Given the description of an element on the screen output the (x, y) to click on. 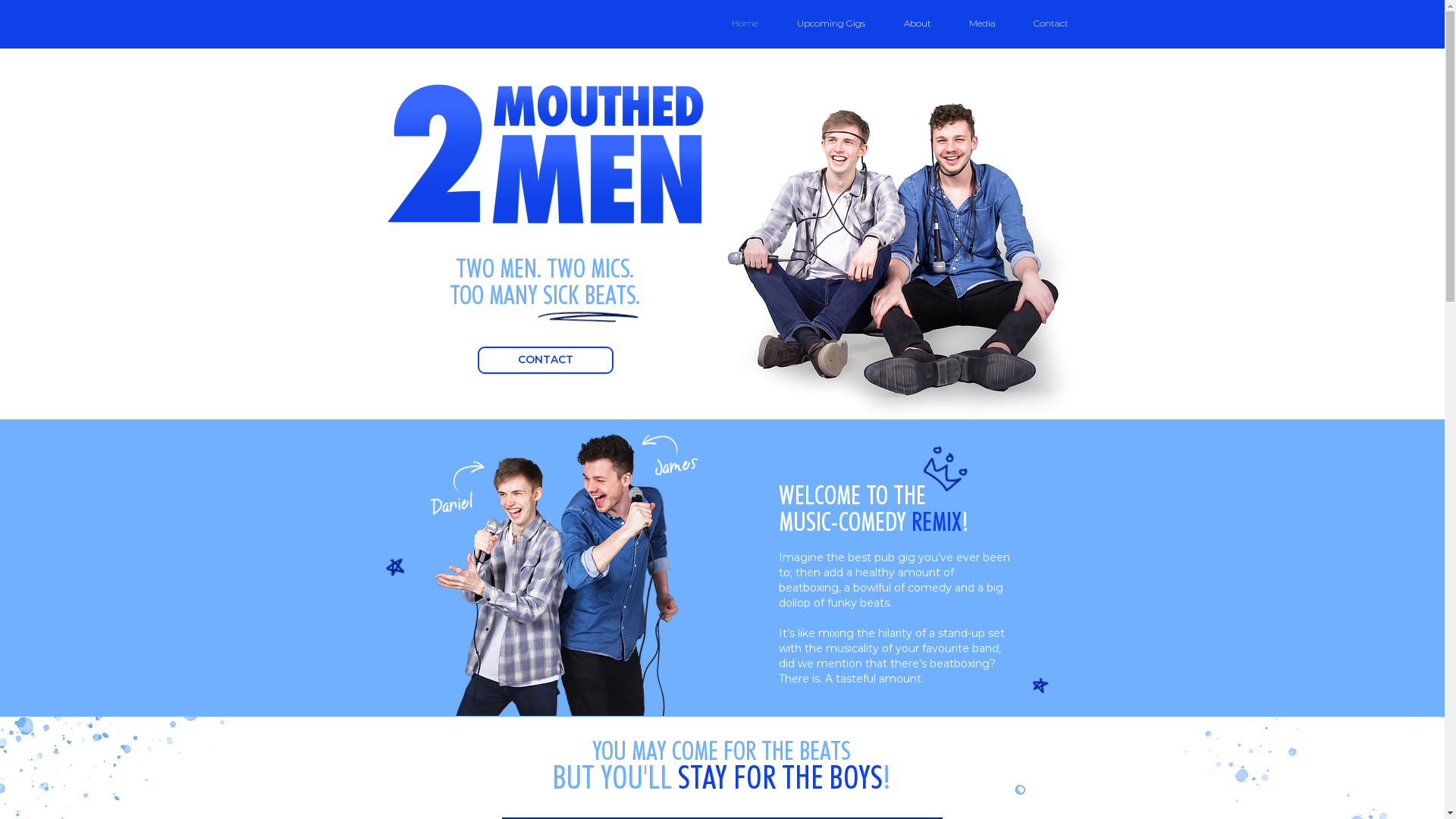
Contact Element type: text (1050, 23)
About Element type: text (916, 23)
Media Element type: text (981, 23)
Upcoming Gigs Element type: text (831, 23)
CONTACT Element type: text (545, 359)
Home Element type: text (745, 23)
